Given the description of an element on the screen output the (x, y) to click on. 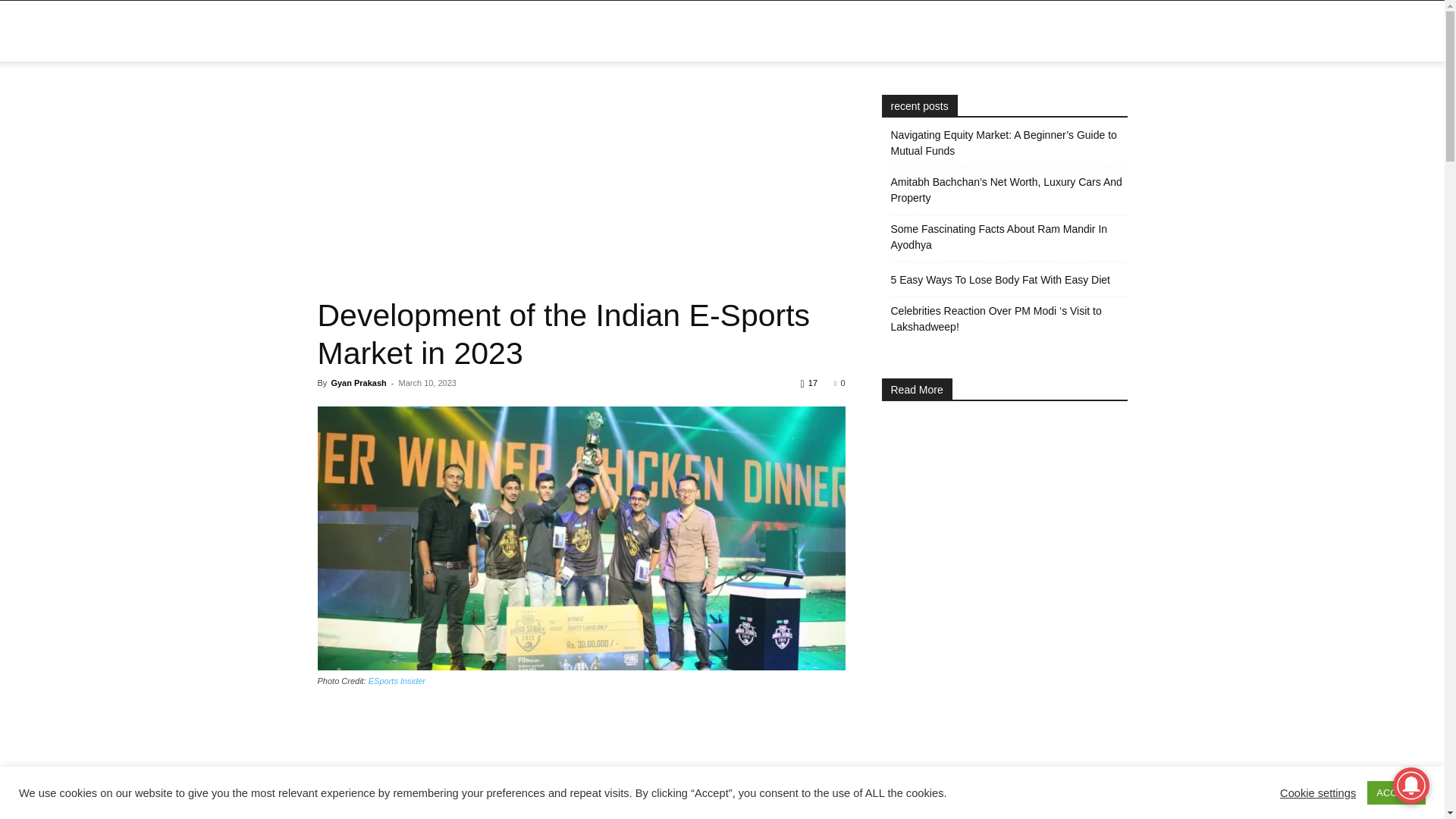
LIFESTYLE (697, 30)
HOME (557, 30)
MEWS (319, 30)
NEWS (617, 30)
Search (1210, 103)
